Given the description of an element on the screen output the (x, y) to click on. 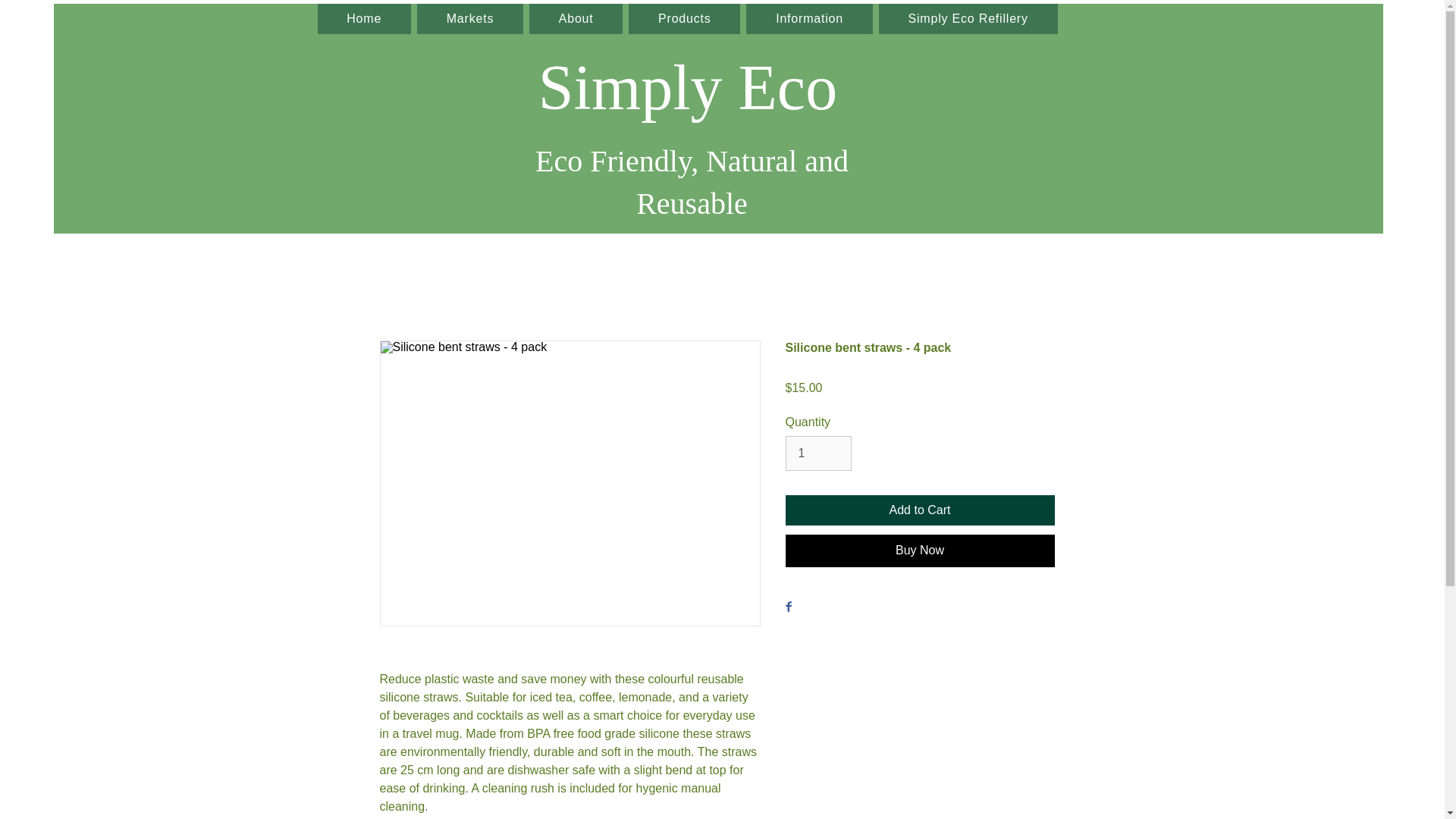
Simply Eco Refillery (968, 19)
Home (363, 19)
Information (808, 19)
Add to Cart (920, 510)
Markets (469, 19)
Products (683, 19)
Buy Now (920, 550)
1 (818, 452)
About (576, 19)
